Given the description of an element on the screen output the (x, y) to click on. 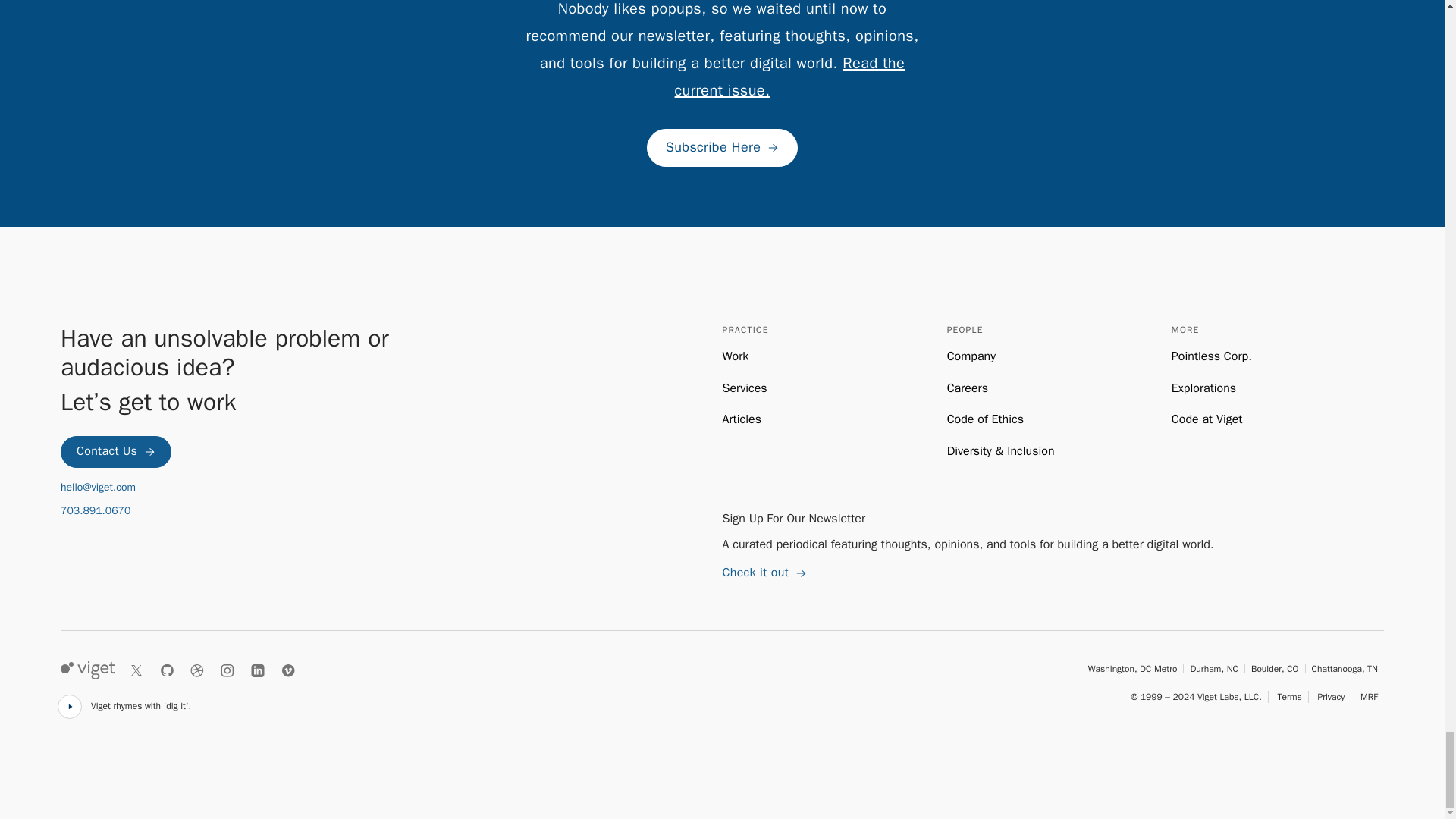
Read the current issue. (790, 76)
